Given the description of an element on the screen output the (x, y) to click on. 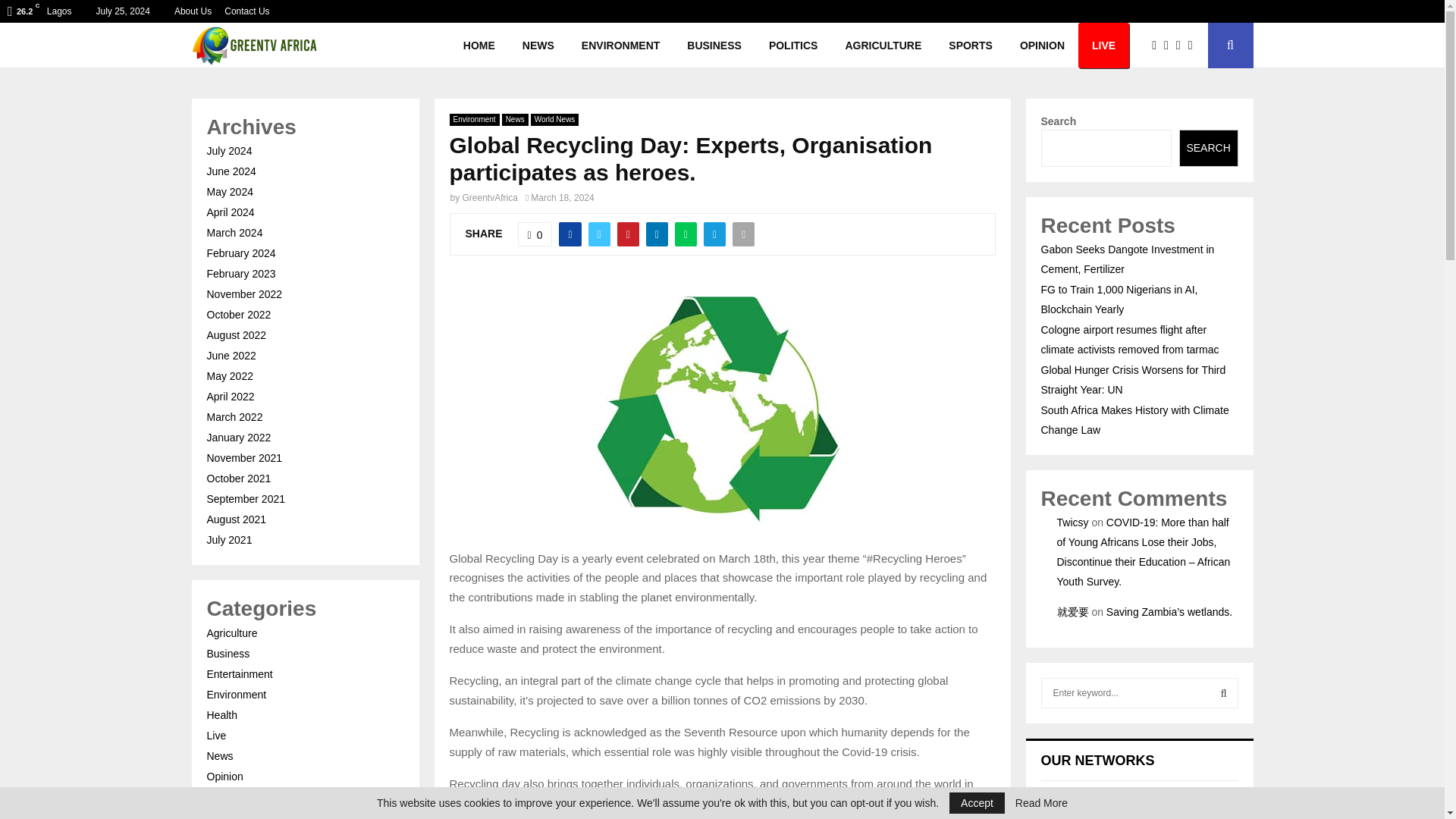
ENVIRONMENT (619, 44)
World News (555, 119)
Contact Us (246, 11)
NEWS (537, 44)
Environment (473, 119)
SPORTS (970, 44)
HOME (478, 44)
POLITICS (793, 44)
AGRICULTURE (882, 44)
GreentvAfrica (490, 197)
BUSINESS (713, 44)
0 (535, 233)
Like (535, 233)
LIVE (1103, 44)
About Us (192, 11)
